Given the description of an element on the screen output the (x, y) to click on. 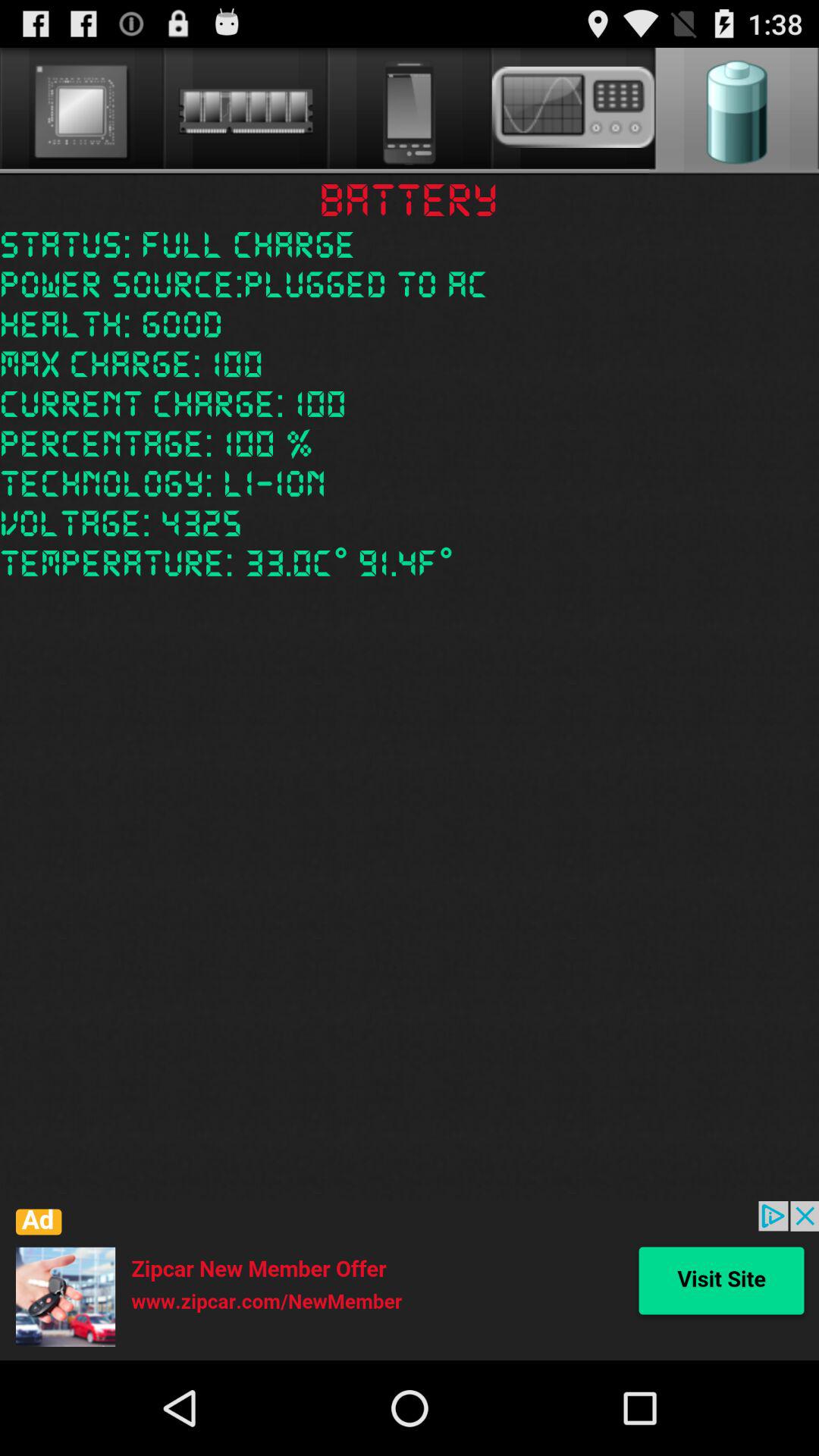
advertisement link (409, 1280)
